Given the description of an element on the screen output the (x, y) to click on. 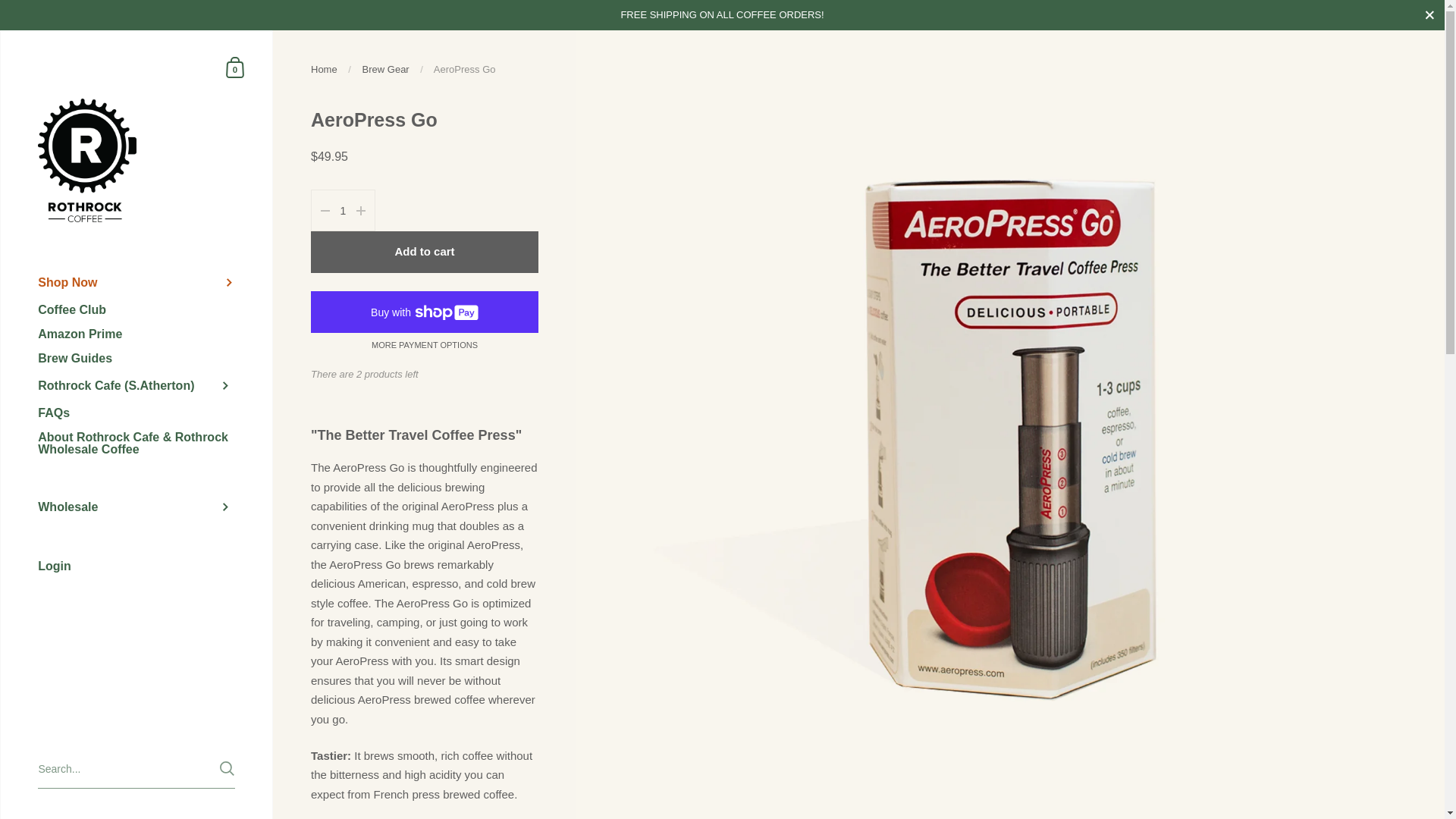
0 (235, 66)
MORE PAYMENT OPTIONS (424, 345)
Brew Guides (136, 358)
Shop Now (136, 282)
Amazon Prime (136, 334)
1 (342, 210)
Home (324, 69)
Add to cart (424, 251)
Shopping Cart (235, 66)
Wholesale (136, 507)
